Given the description of an element on the screen output the (x, y) to click on. 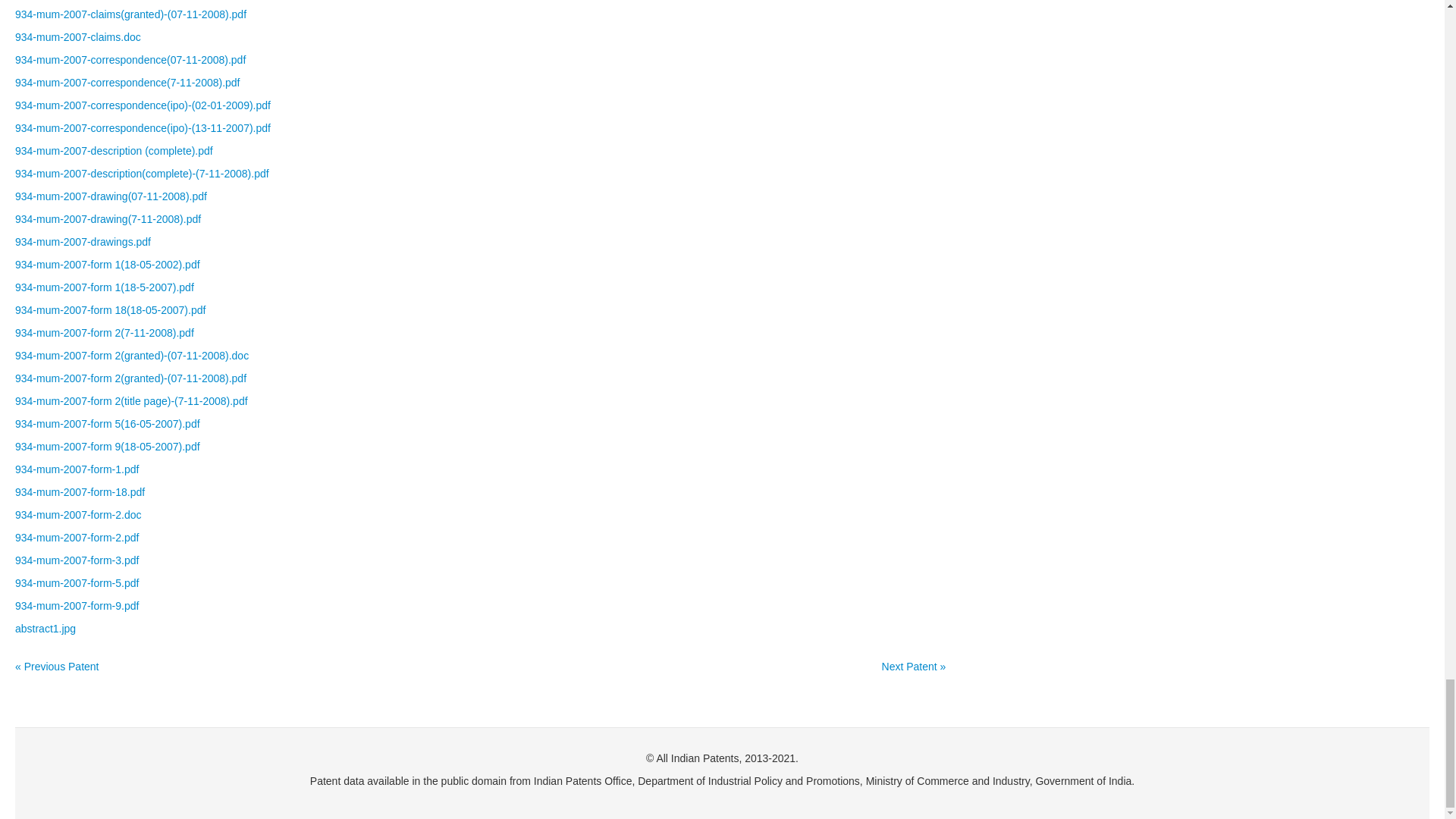
934-mum-2007-drawings.pdf (82, 241)
934-mum-2007-claims.doc (77, 37)
934-mum-2007-form-5.pdf (76, 582)
934-mum-2007-form-3.pdf (76, 560)
934-mum-2007-form-2.doc (77, 514)
934-mum-2007-form-18.pdf (79, 491)
934-mum-2007-form-2.pdf (76, 537)
934-mum-2007-form-1.pdf (76, 469)
abstract1.jpg (44, 628)
934-mum-2007-form-9.pdf (76, 605)
